Given the description of an element on the screen output the (x, y) to click on. 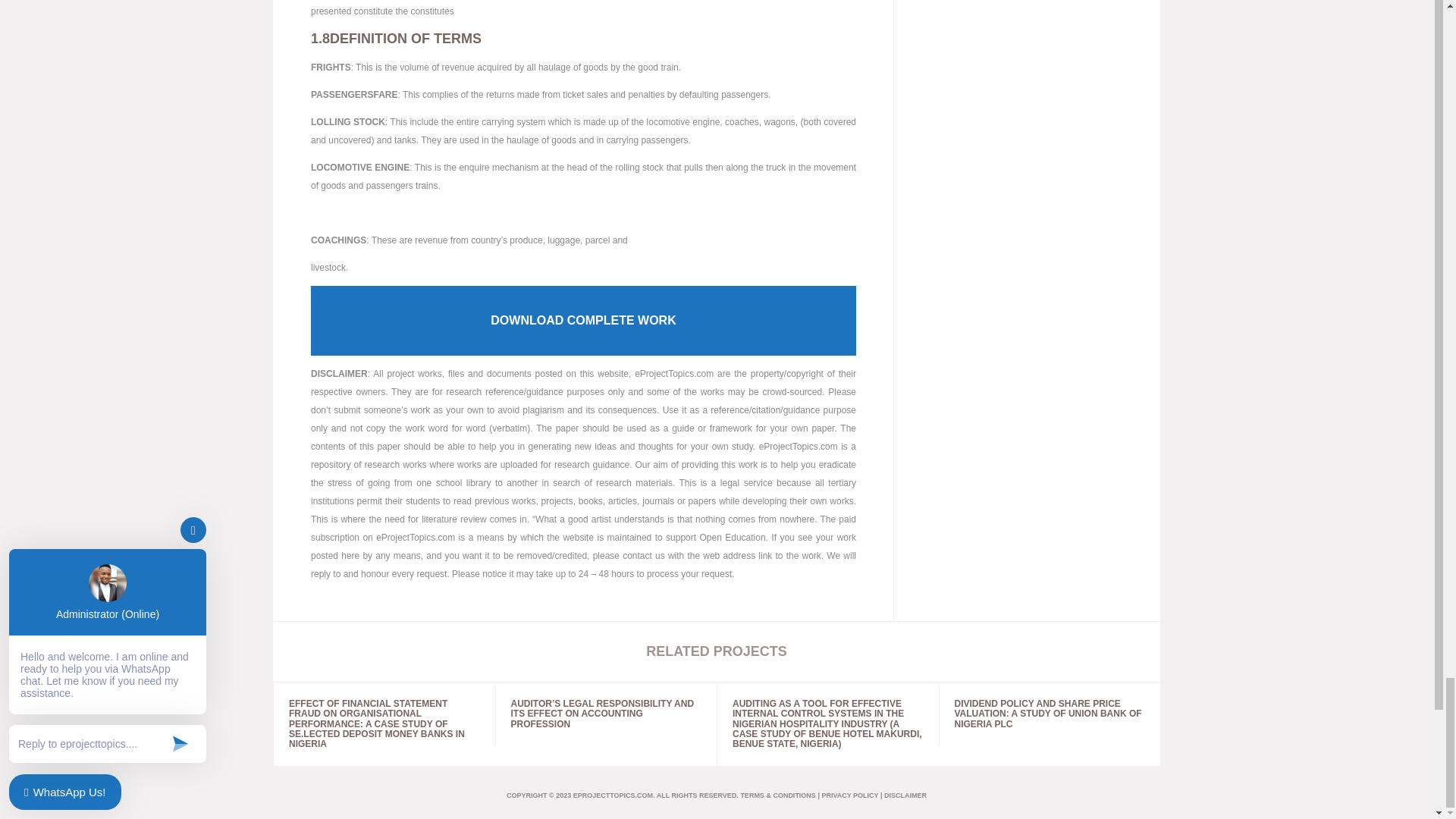
DOWNLOAD COMPLETE WORK (583, 320)
PRIVACY POLICY (849, 795)
DISCLAIMER (904, 795)
